Given the description of an element on the screen output the (x, y) to click on. 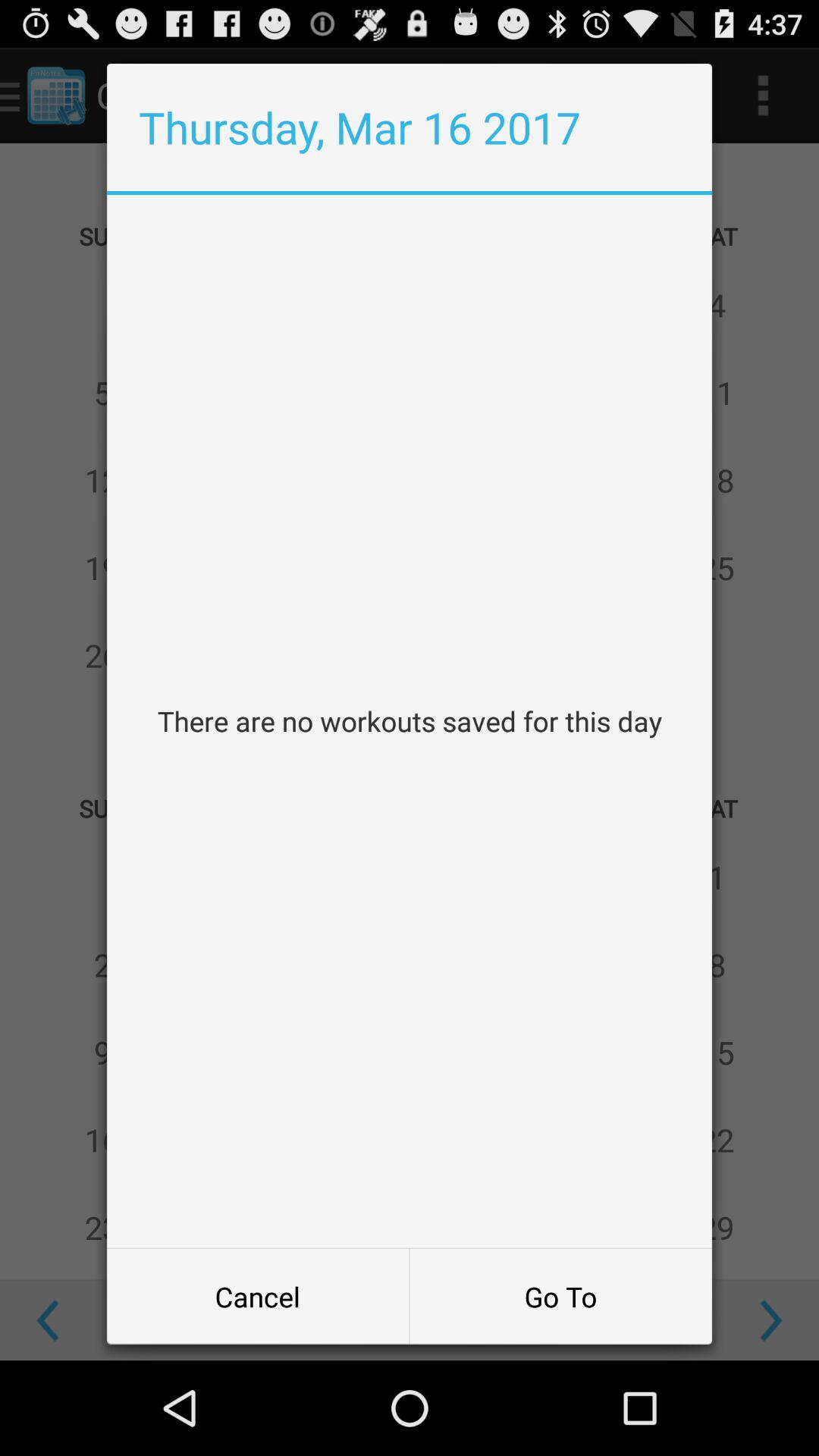
turn on cancel at the bottom left corner (257, 1296)
